Given the description of an element on the screen output the (x, y) to click on. 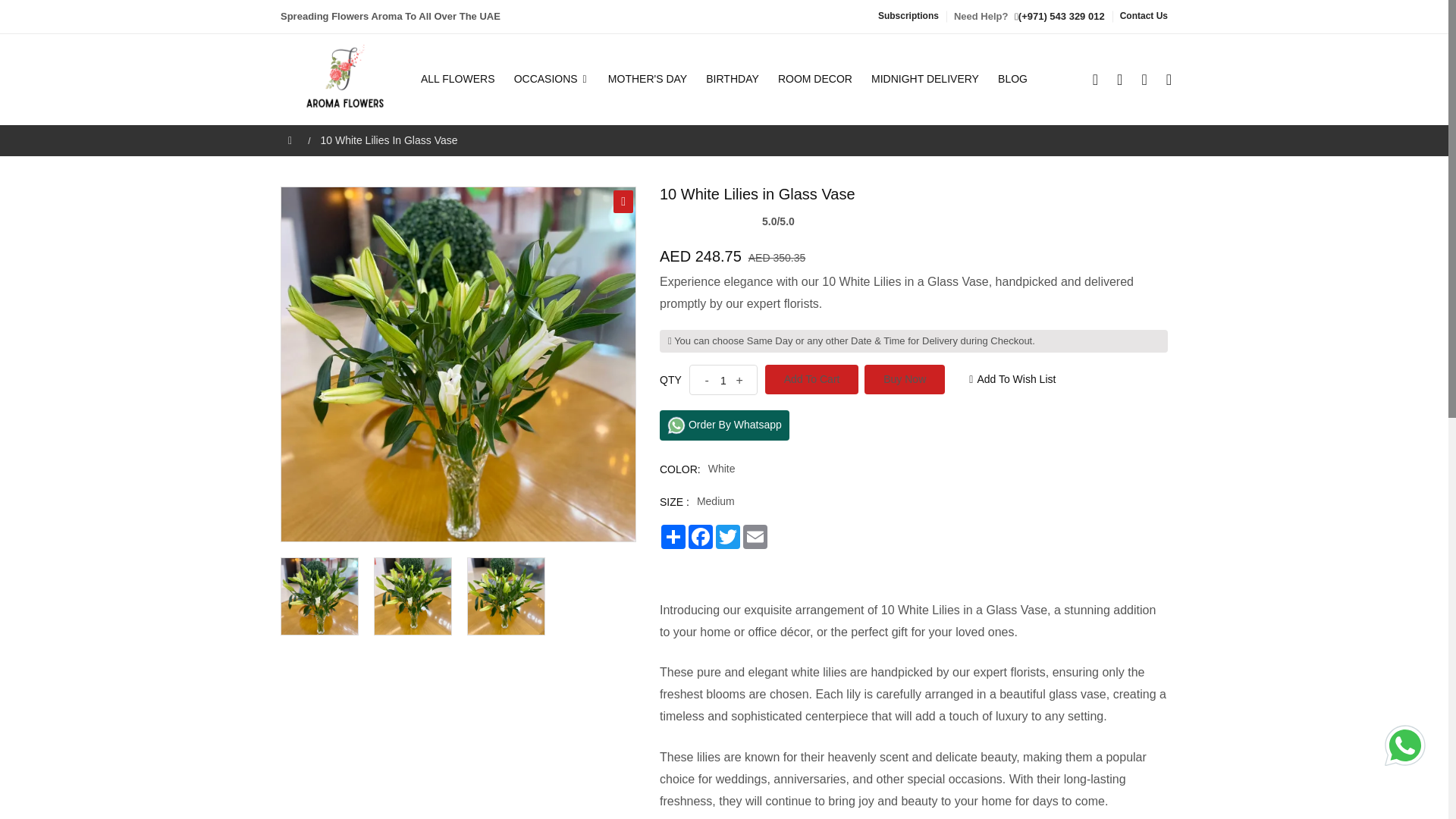
OCCASIONS (551, 78)
MOTHER'S DAY (646, 78)
Subscriptions (908, 15)
ROOM DECOR (815, 78)
Contact Us (1143, 15)
ALL FLOWERS (461, 78)
MIDNIGHT DELIVERY (925, 78)
